Given the description of an element on the screen output the (x, y) to click on. 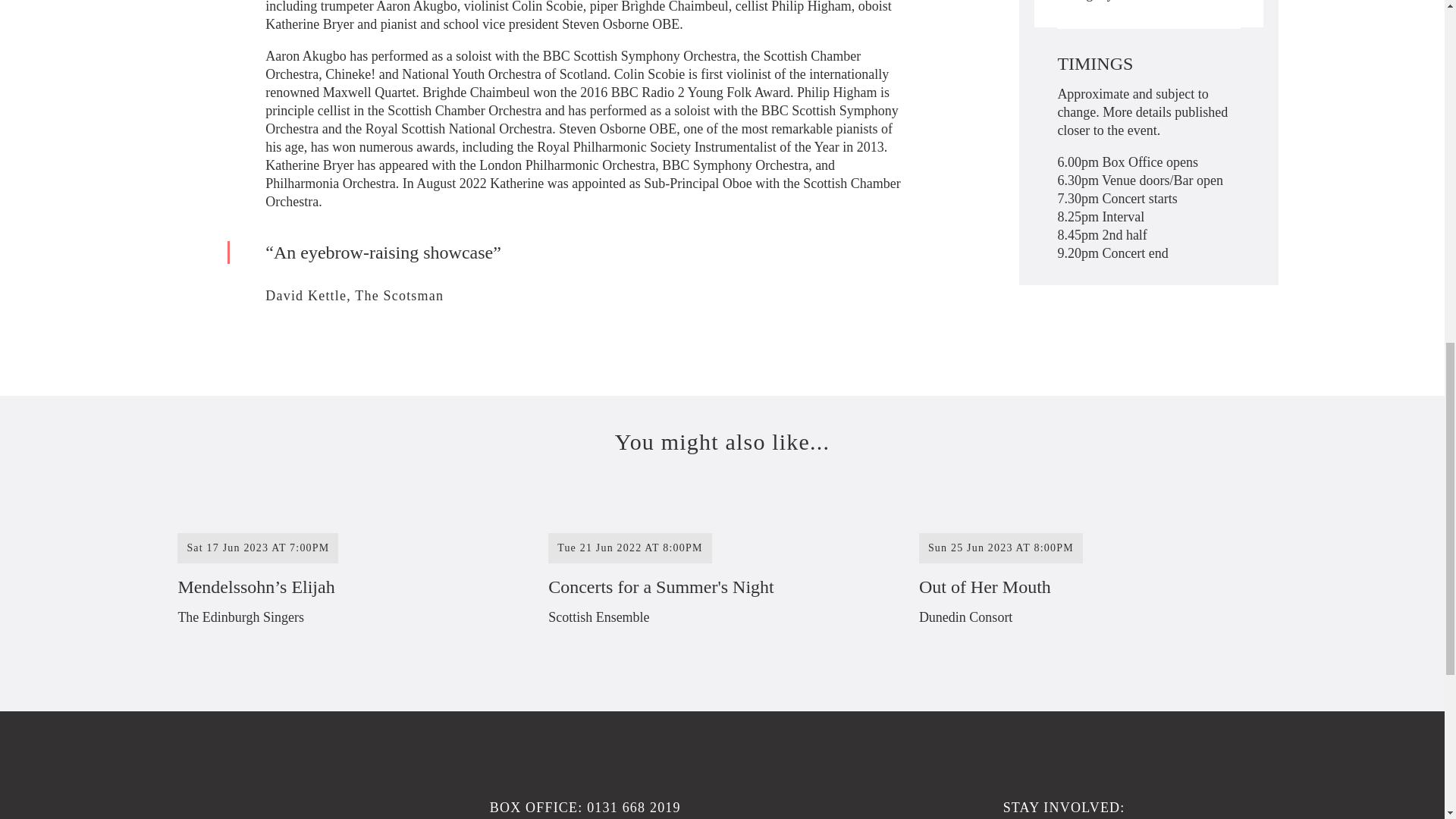
Home (841, 803)
View all Classical events (1168, 2)
Read more about Out of Her Mouth (1090, 569)
0131 668 2019 (633, 807)
Classical (1168, 2)
Read more about Concerts for a Summer's Night (1090, 569)
The Queen's Hall (720, 569)
